Given the description of an element on the screen output the (x, y) to click on. 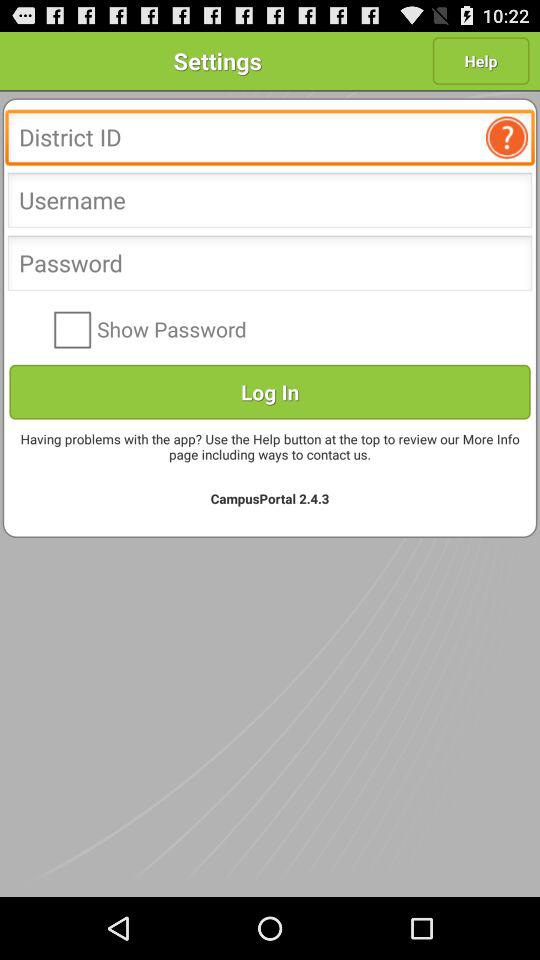
jump until campusportal 2 4 (269, 498)
